Given the description of an element on the screen output the (x, y) to click on. 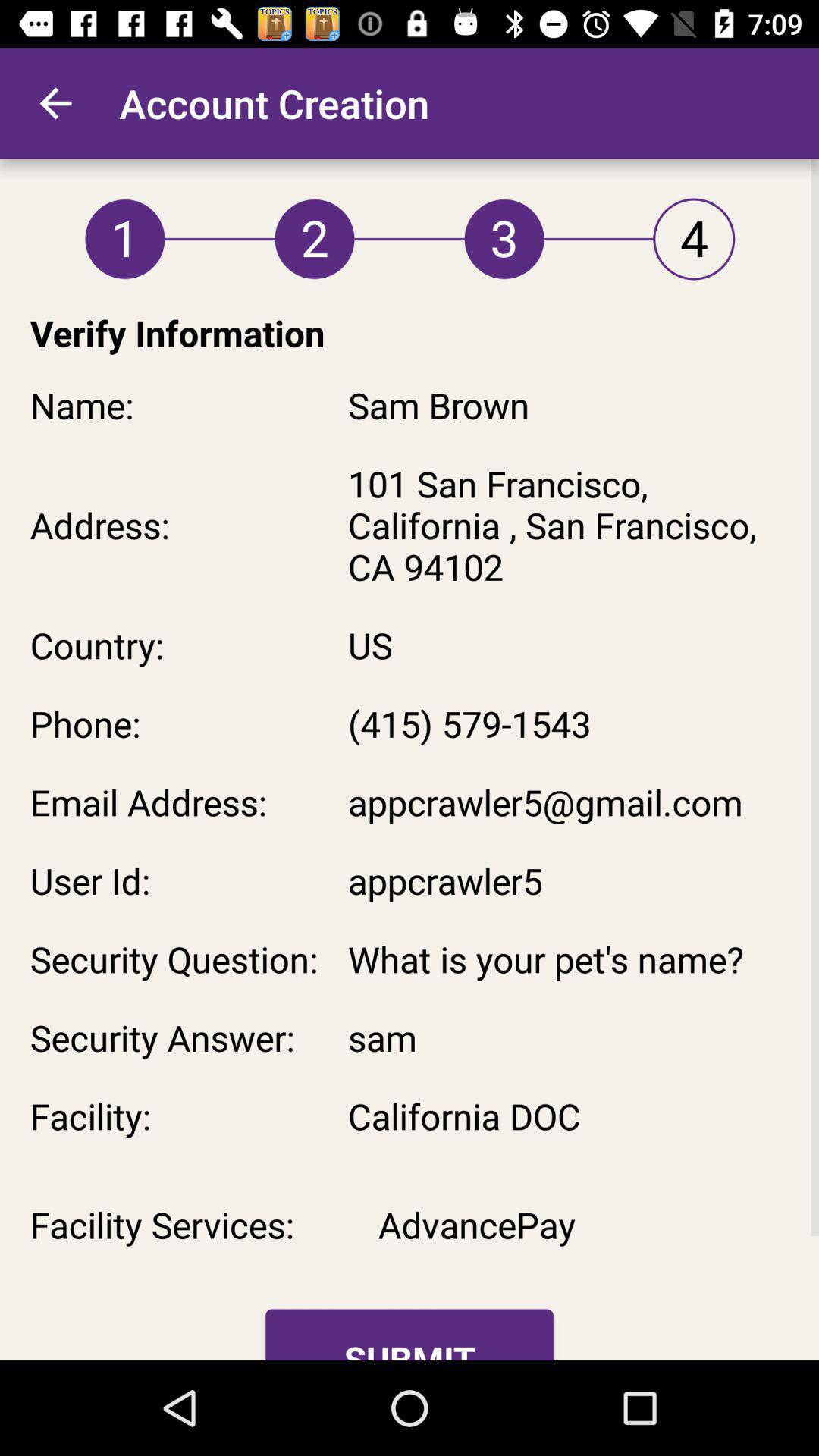
press submit item (409, 1334)
